Given the description of an element on the screen output the (x, y) to click on. 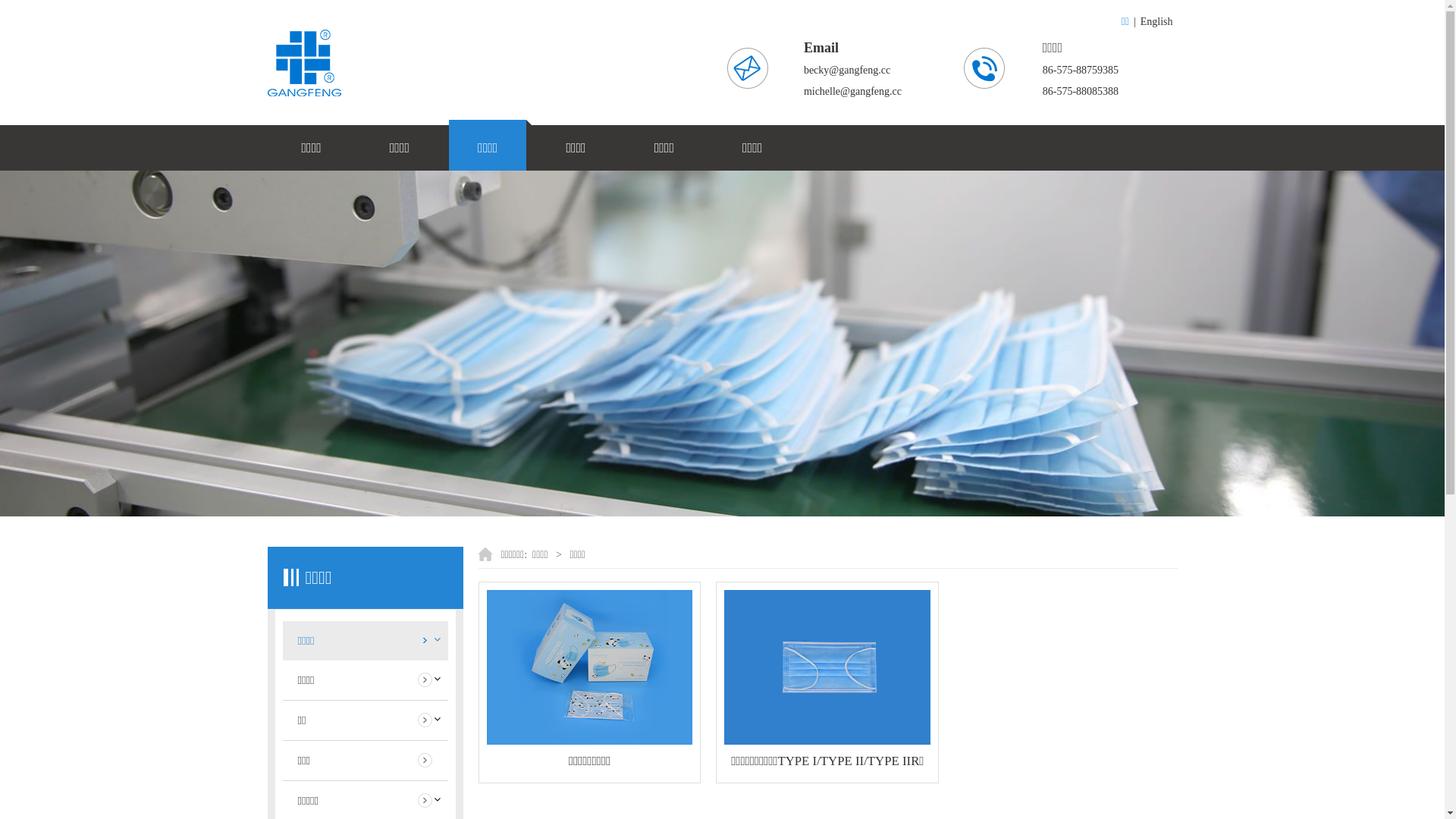
English Element type: text (1156, 21)
michelle@gangfeng.cc Element type: text (852, 91)
becky@gangfeng.cc Element type: text (846, 69)
